Given the description of an element on the screen output the (x, y) to click on. 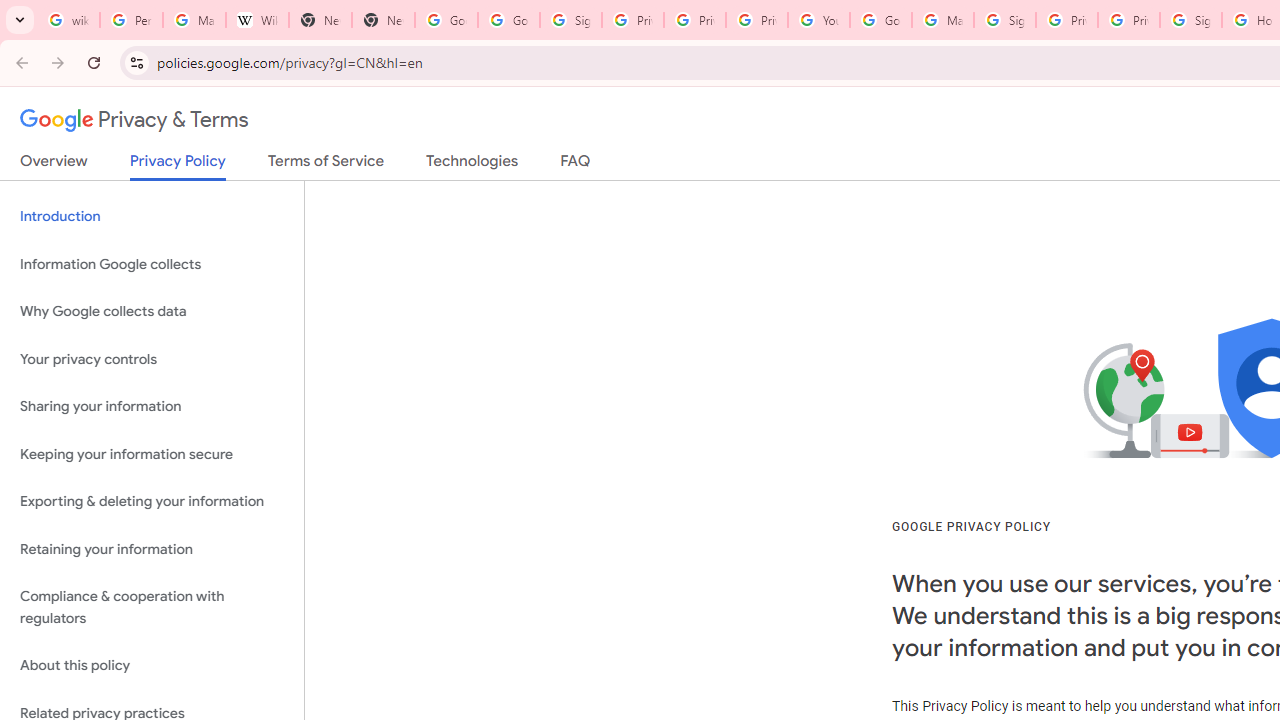
Sign in - Google Accounts (1190, 20)
Google Account Help (880, 20)
Exporting & deleting your information (152, 502)
Sign in - Google Accounts (570, 20)
Sharing your information (152, 407)
